Given the description of an element on the screen output the (x, y) to click on. 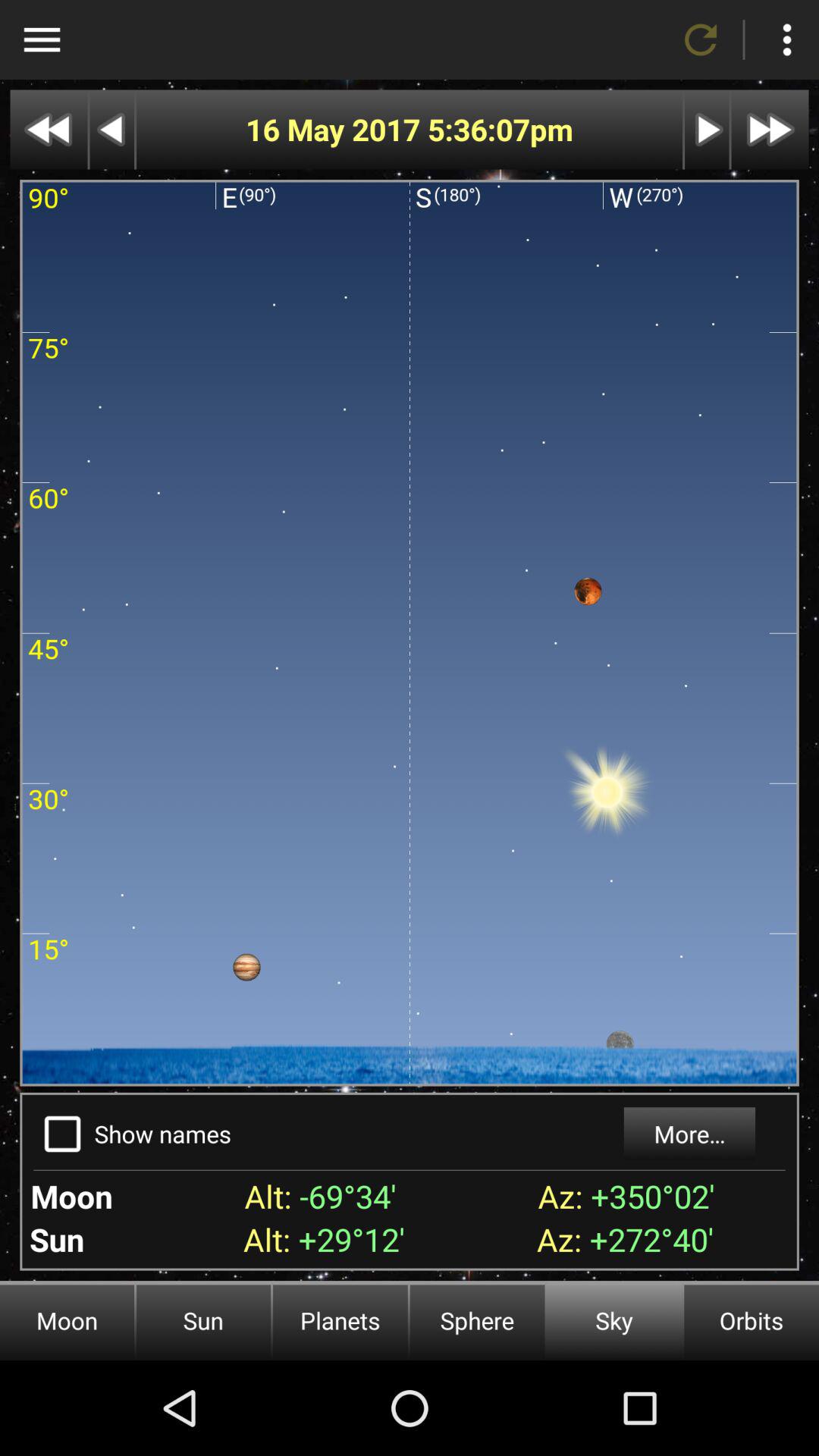
go to menu bar (41, 39)
